Given the description of an element on the screen output the (x, y) to click on. 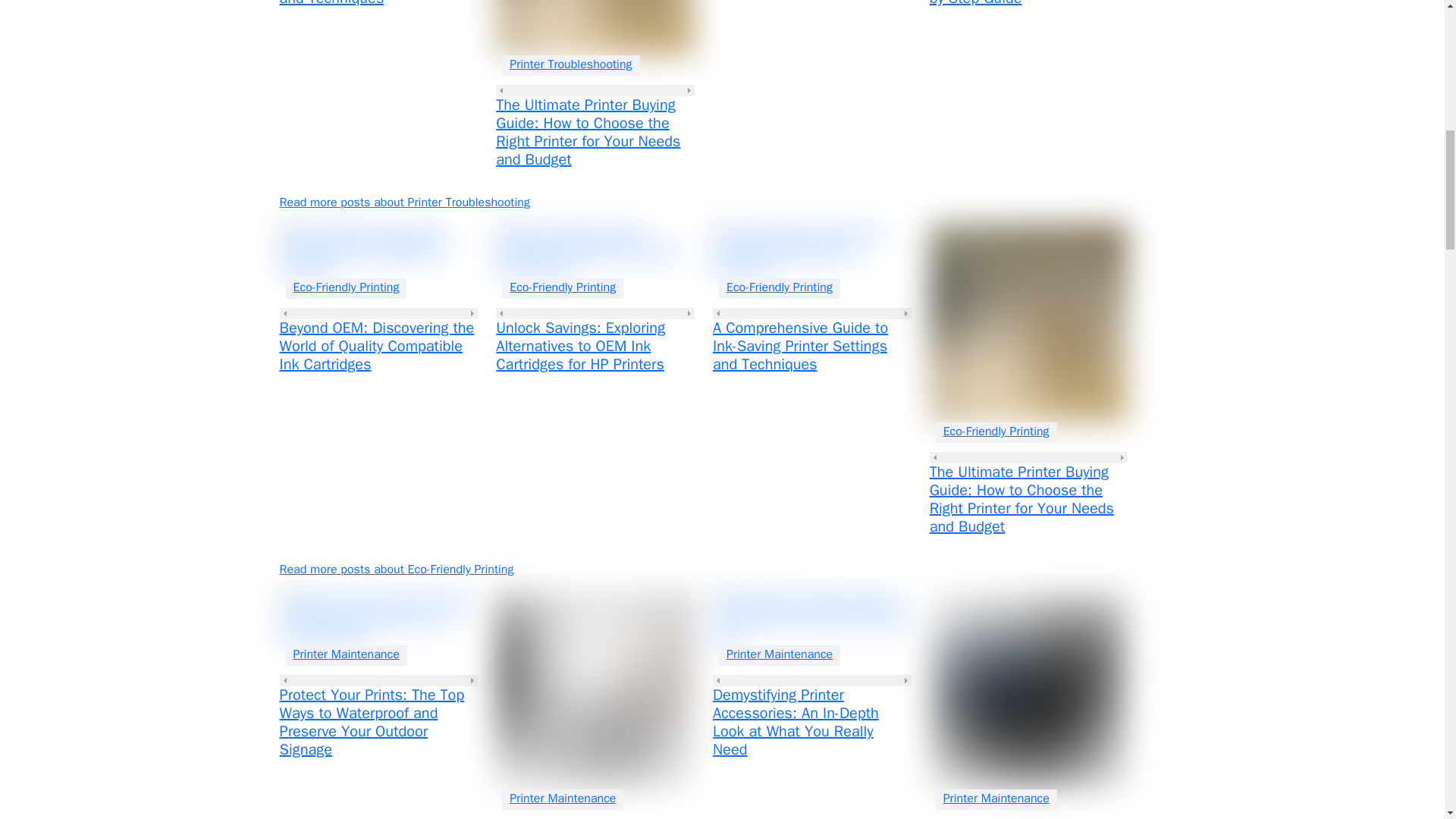
Printer Troubleshooting (570, 64)
